Given the description of an element on the screen output the (x, y) to click on. 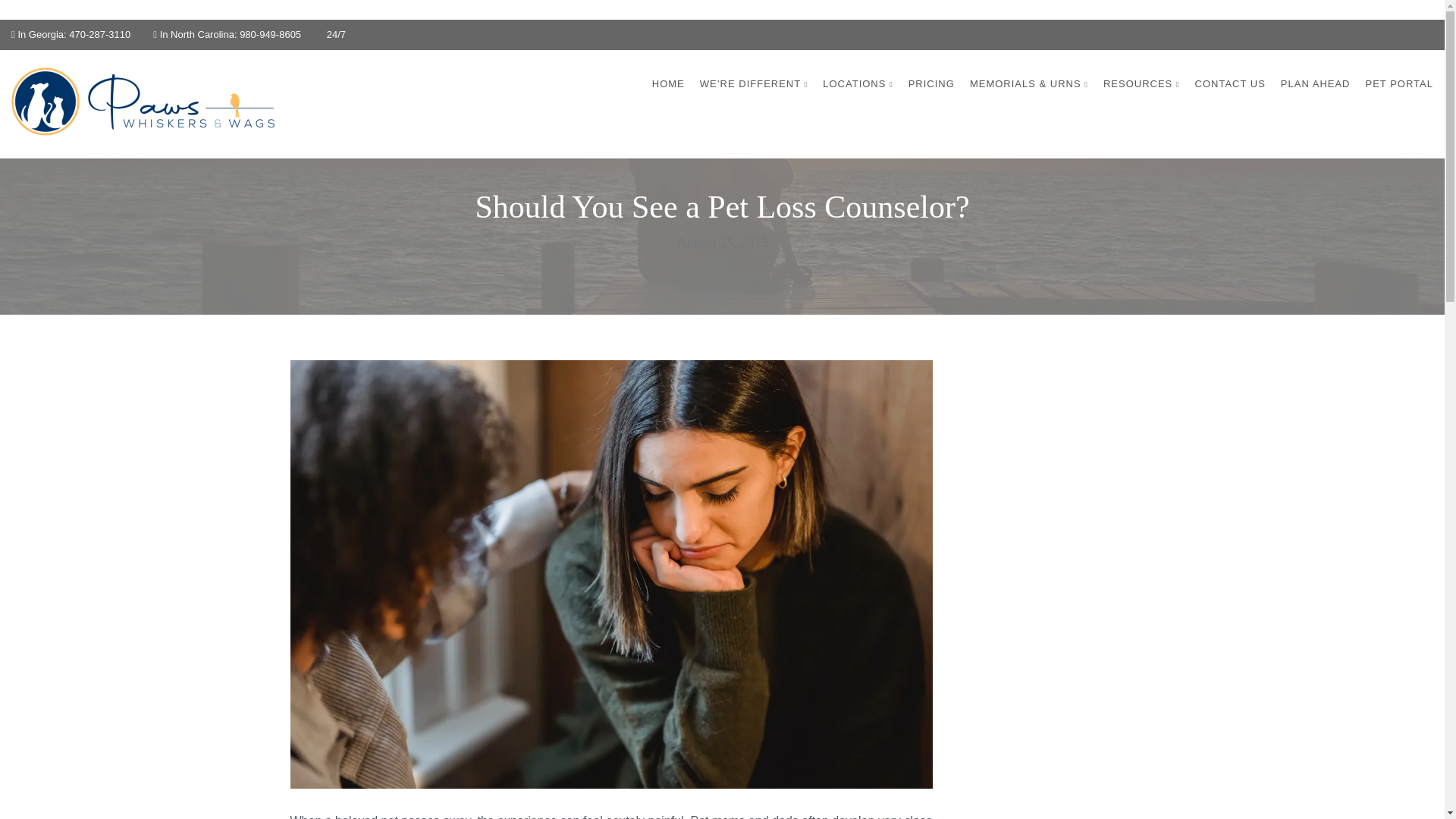
RESOURCES (1141, 83)
CONTACT US (1230, 83)
LOCATIONS (857, 83)
